Given the description of an element on the screen output the (x, y) to click on. 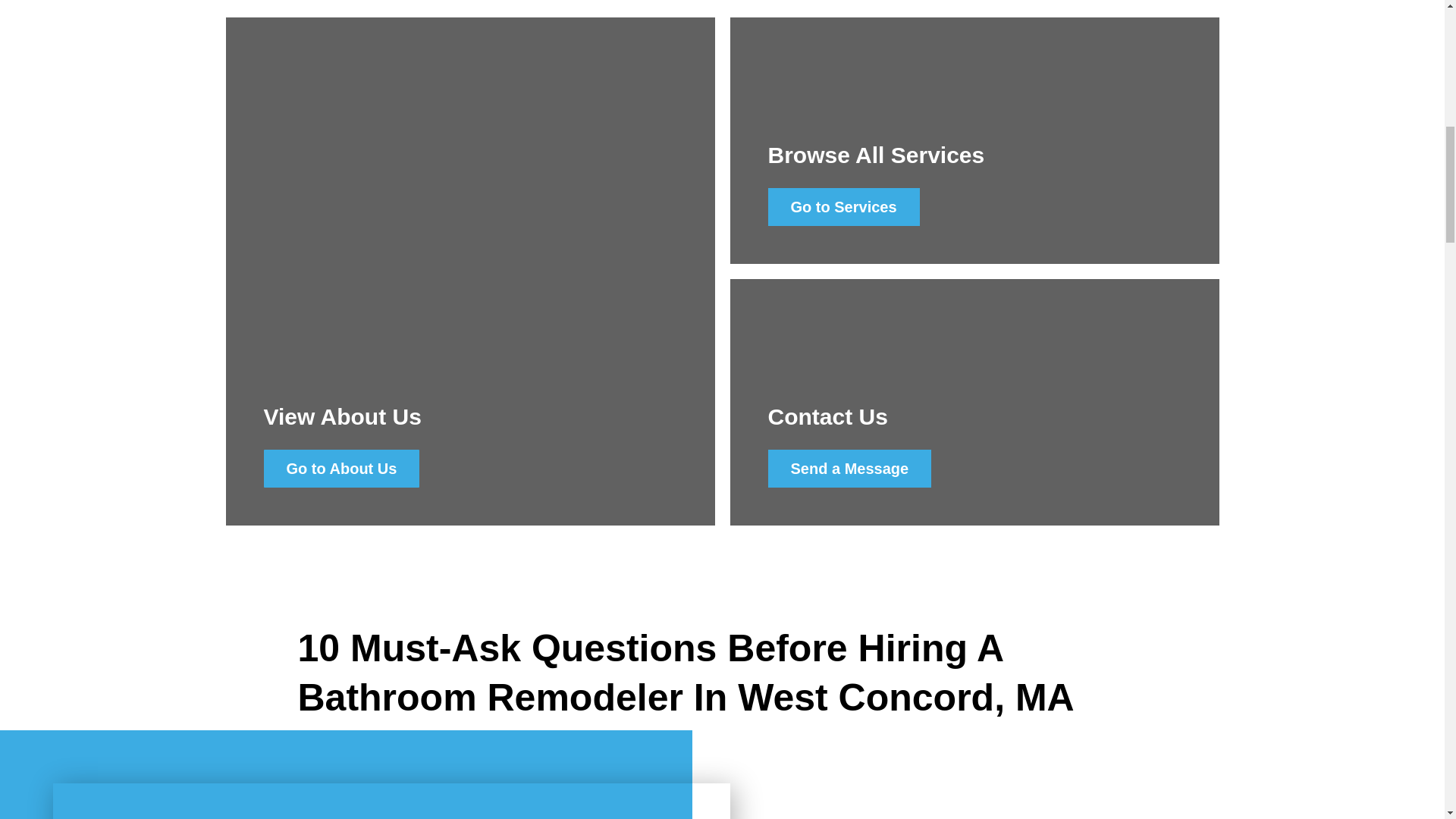
Go to About Us (341, 468)
Send a Message (849, 468)
Go to Services (842, 207)
